Given the description of an element on the screen output the (x, y) to click on. 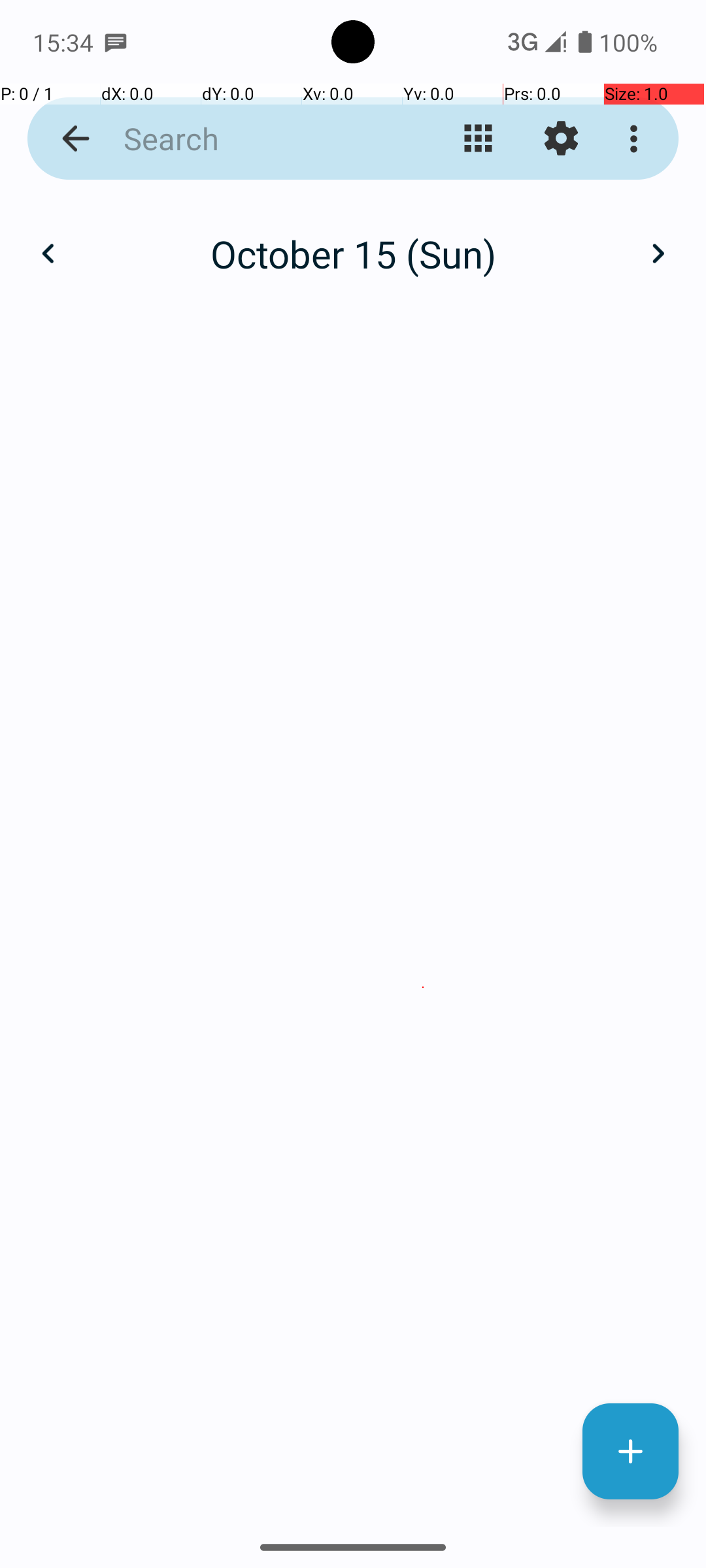
Change view Element type: android.widget.Button (477, 138)
New Event Element type: android.widget.ImageButton (630, 1451)
October Element type: android.widget.TextView (352, 239)
October 15 (Sun) Element type: android.widget.TextView (352, 253)
